Given the description of an element on the screen output the (x, y) to click on. 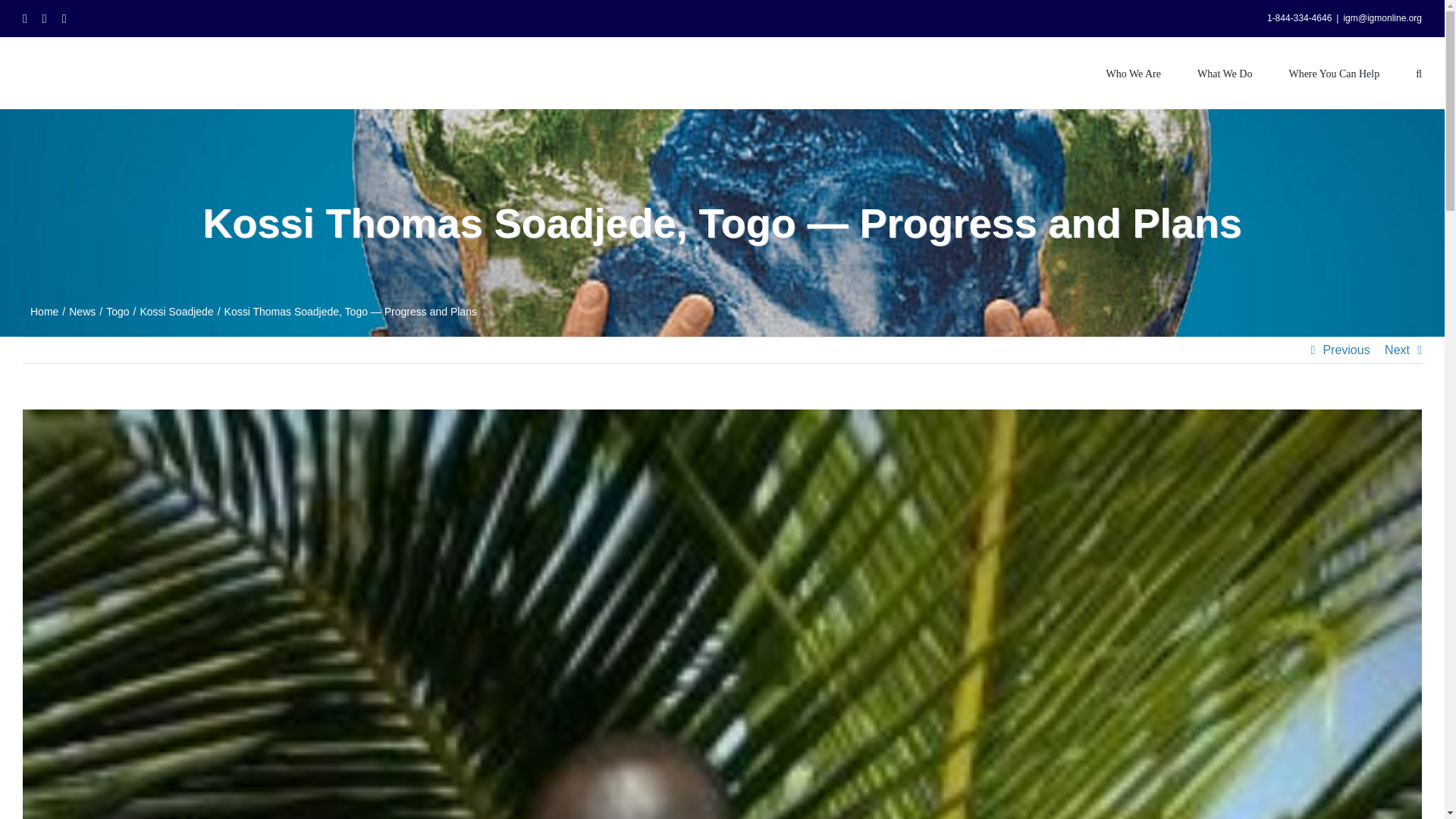
Previous (1346, 350)
Where You Can Help (1333, 72)
Next (1396, 350)
Kossi Soadjede (175, 311)
News (82, 311)
Togo (117, 311)
Home (44, 311)
